Given the description of an element on the screen output the (x, y) to click on. 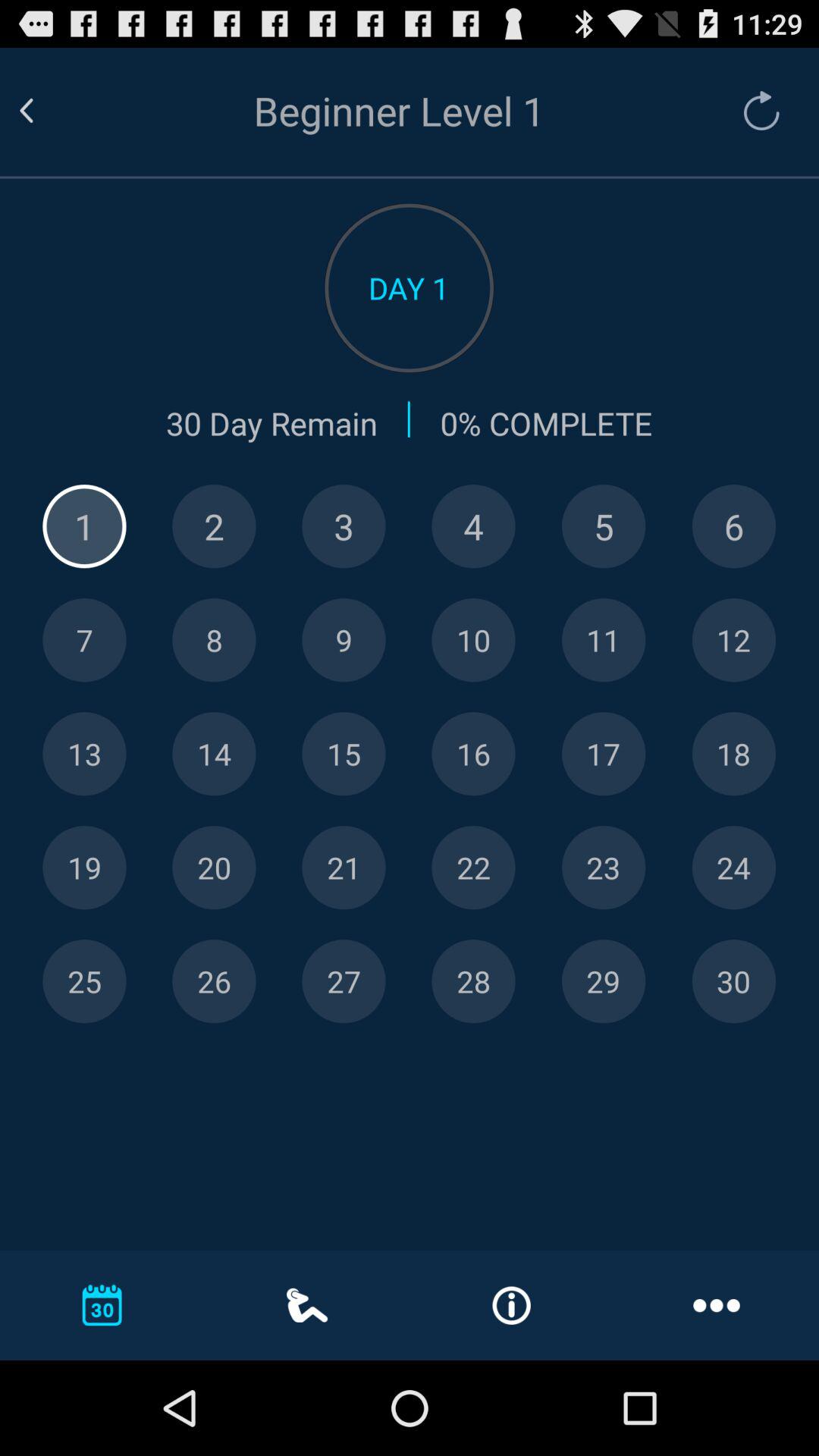
goes to the day displayed (473, 639)
